Given the description of an element on the screen output the (x, y) to click on. 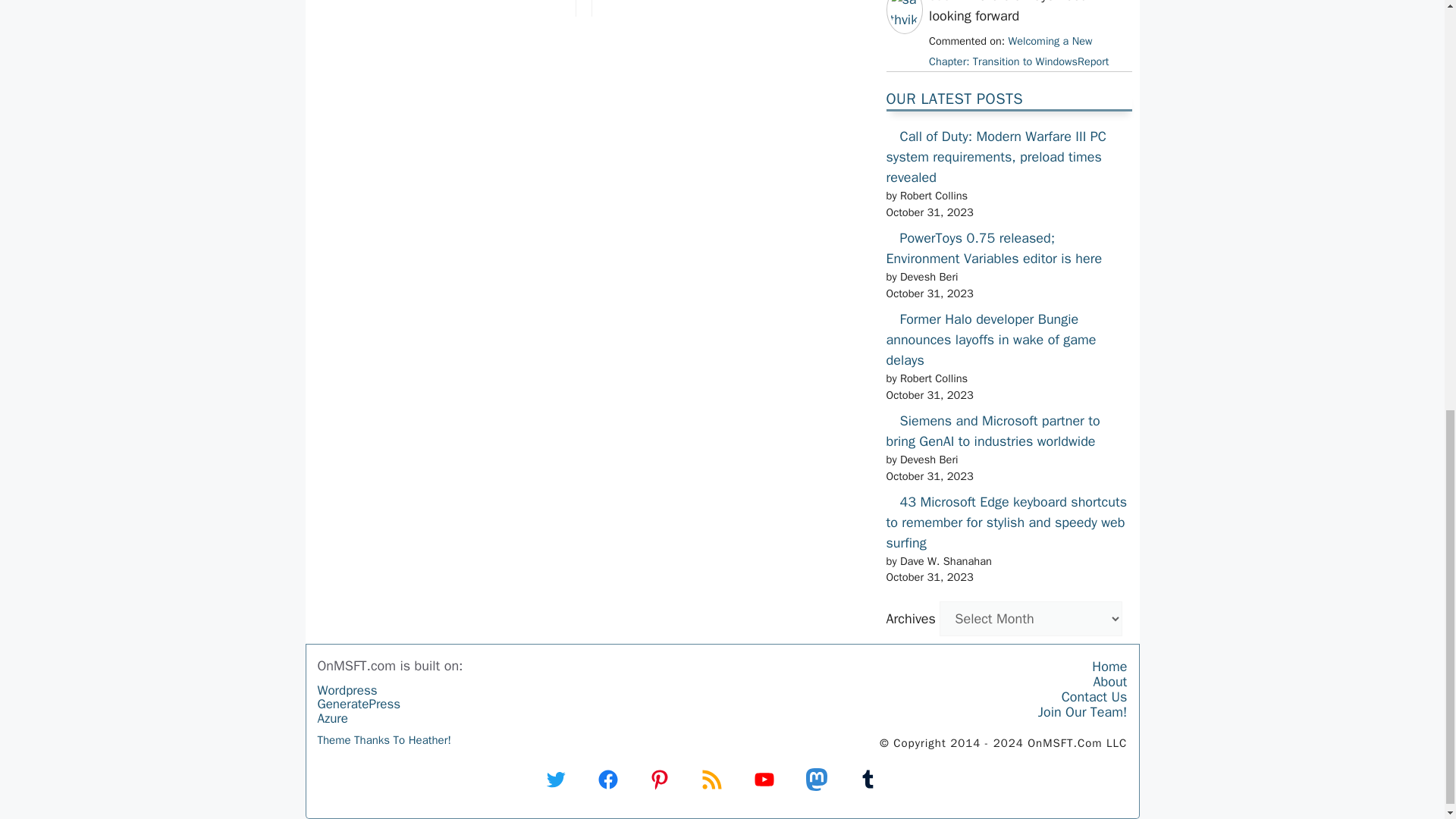
May 20, 2024 (1018, 50)
sathvik (904, 19)
